Given the description of an element on the screen output the (x, y) to click on. 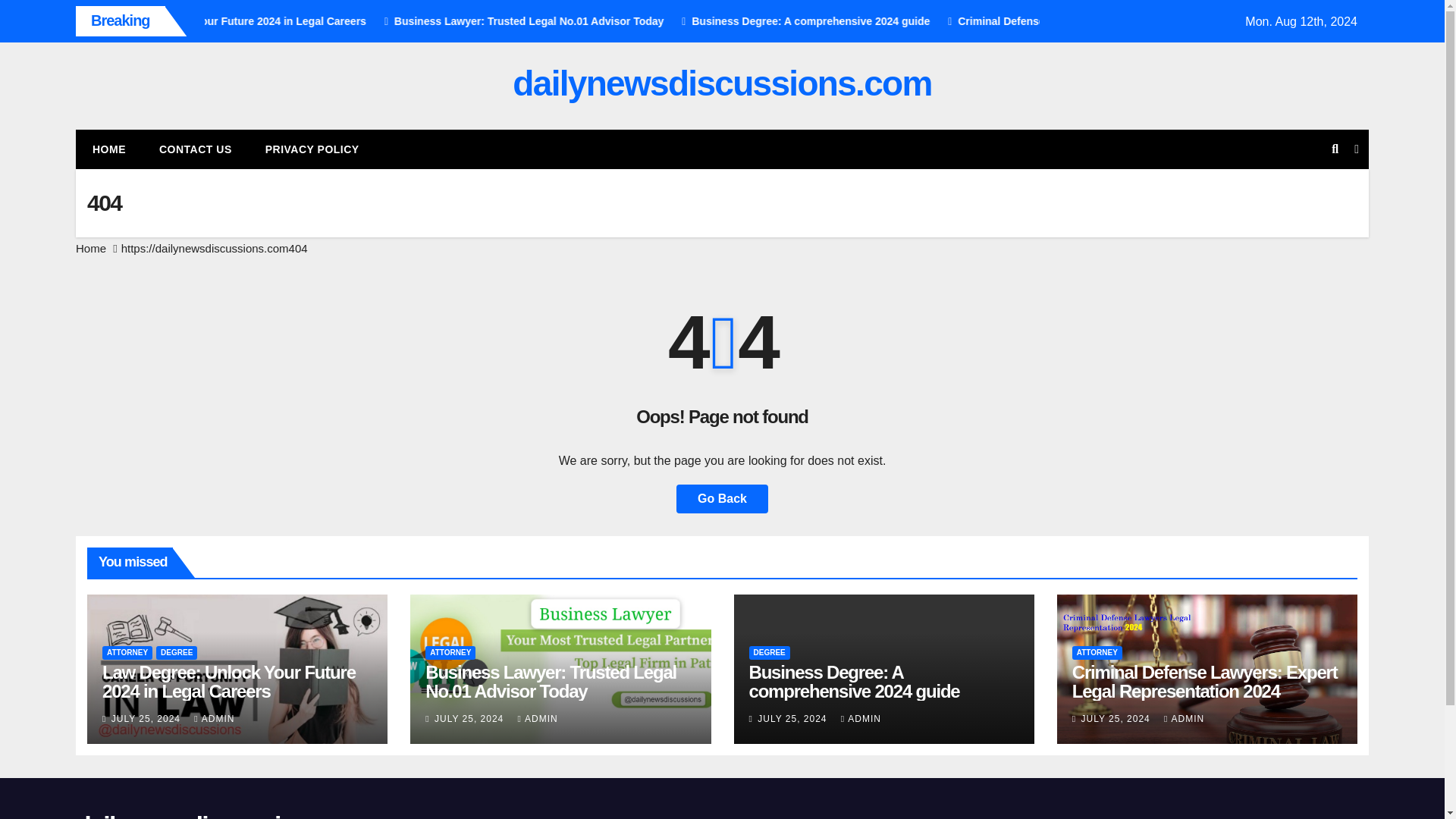
DEGREE (769, 653)
Home (90, 247)
PRIVACY POLICY (311, 148)
ADMIN (537, 718)
JULY 25, 2024 (148, 718)
dailynewsdiscussions.com (721, 83)
JULY 25, 2024 (469, 718)
JULY 25, 2024 (793, 718)
ATTORNEY (450, 653)
